Given the description of an element on the screen output the (x, y) to click on. 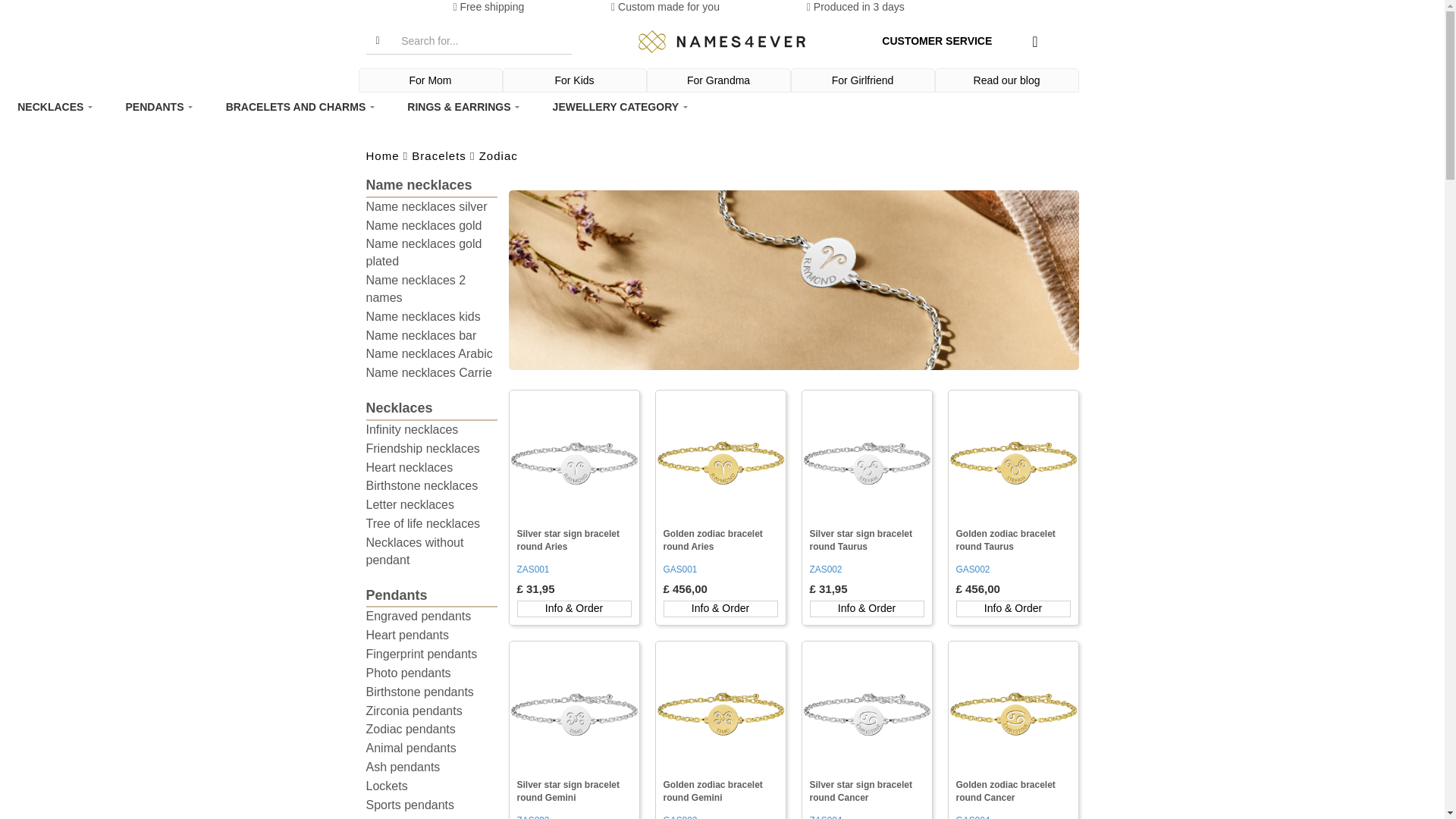
For Mom (430, 79)
Home (721, 41)
CUSTOMER SERVICE (936, 40)
For Girlfriend (863, 79)
Read our blog (1007, 79)
For Kids (574, 79)
Klantenservice (936, 40)
For Grandma (718, 79)
